Given the description of an element on the screen output the (x, y) to click on. 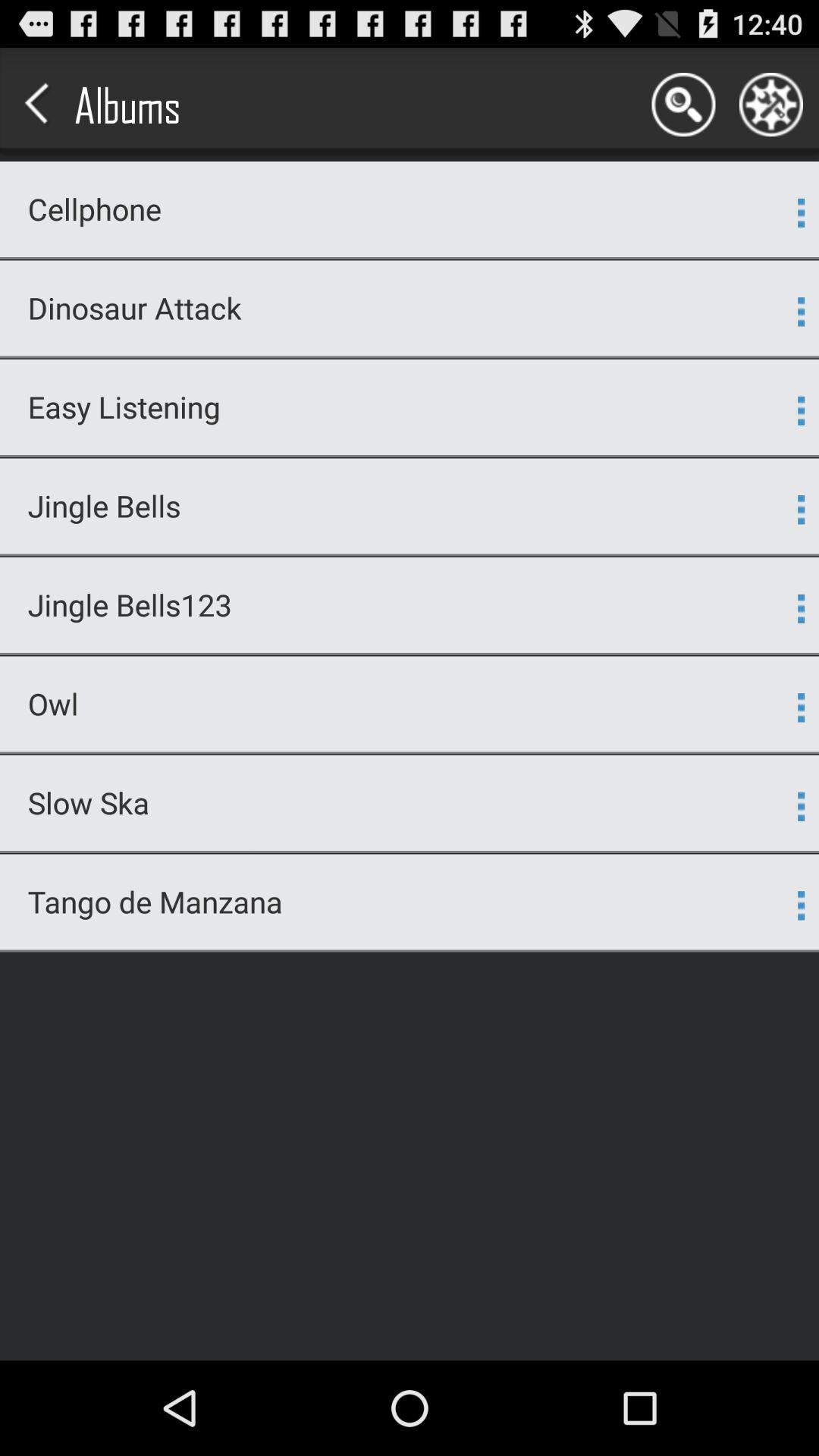
open the item below the tango de manzana app (409, 950)
